Given the description of an element on the screen output the (x, y) to click on. 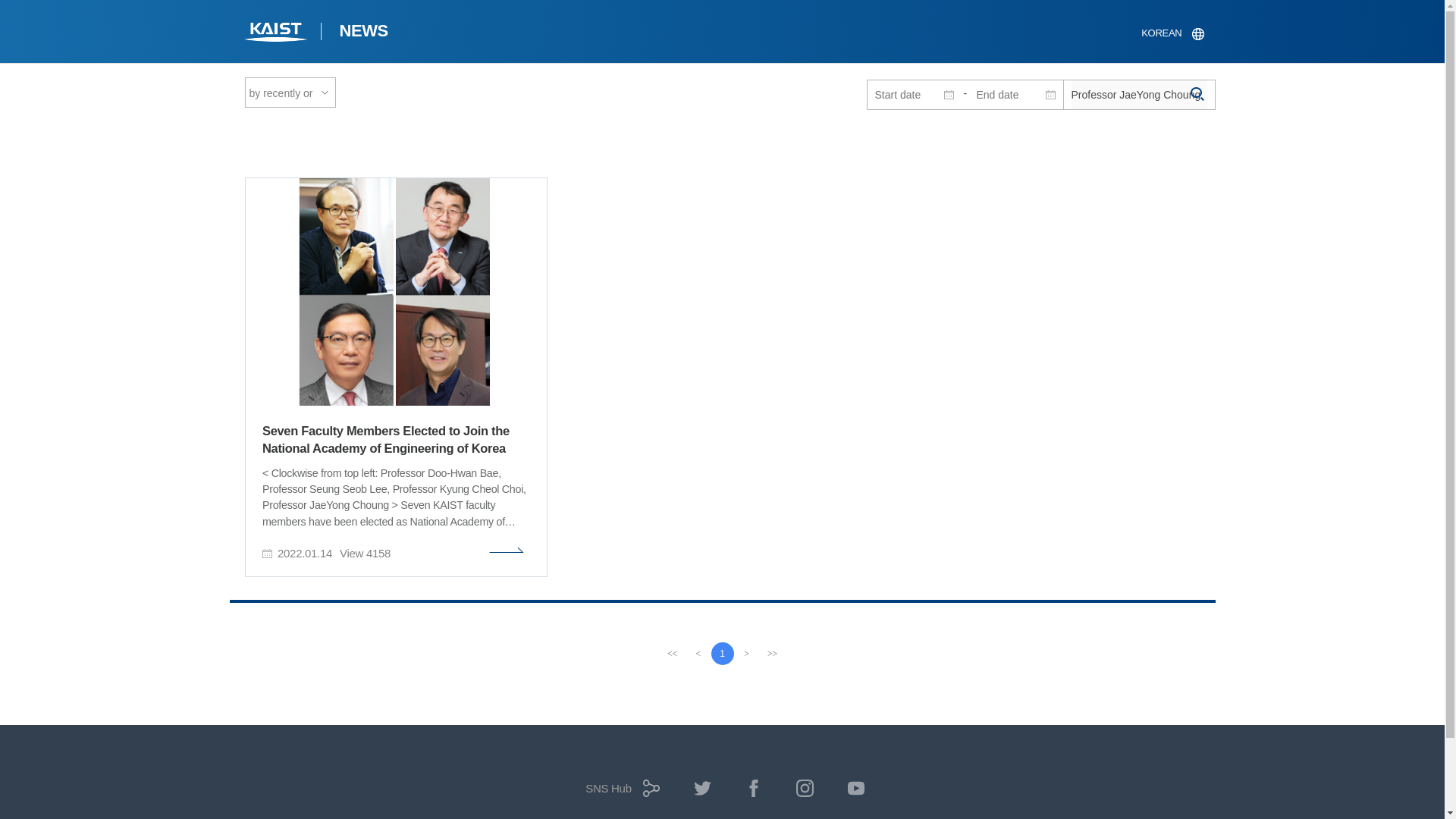
KAIST (276, 33)
Professor JaeYong Choung (1138, 94)
KOREAN (1171, 33)
SNS Hub (619, 793)
NEWS (363, 33)
Input a Keyword (1138, 94)
1 (722, 653)
